Given the description of an element on the screen output the (x, y) to click on. 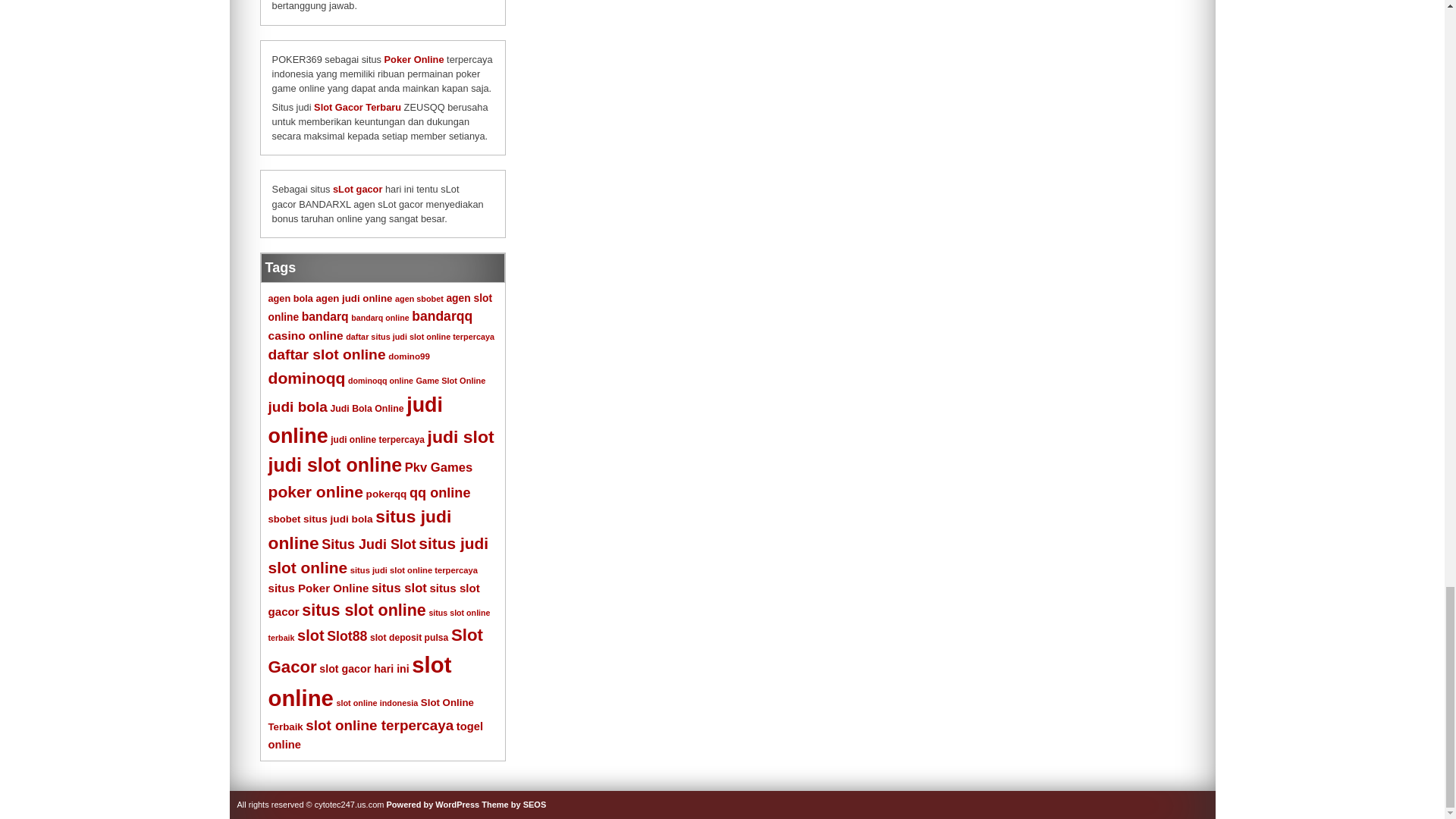
Seos free wordpress themes (513, 804)
